Given the description of an element on the screen output the (x, y) to click on. 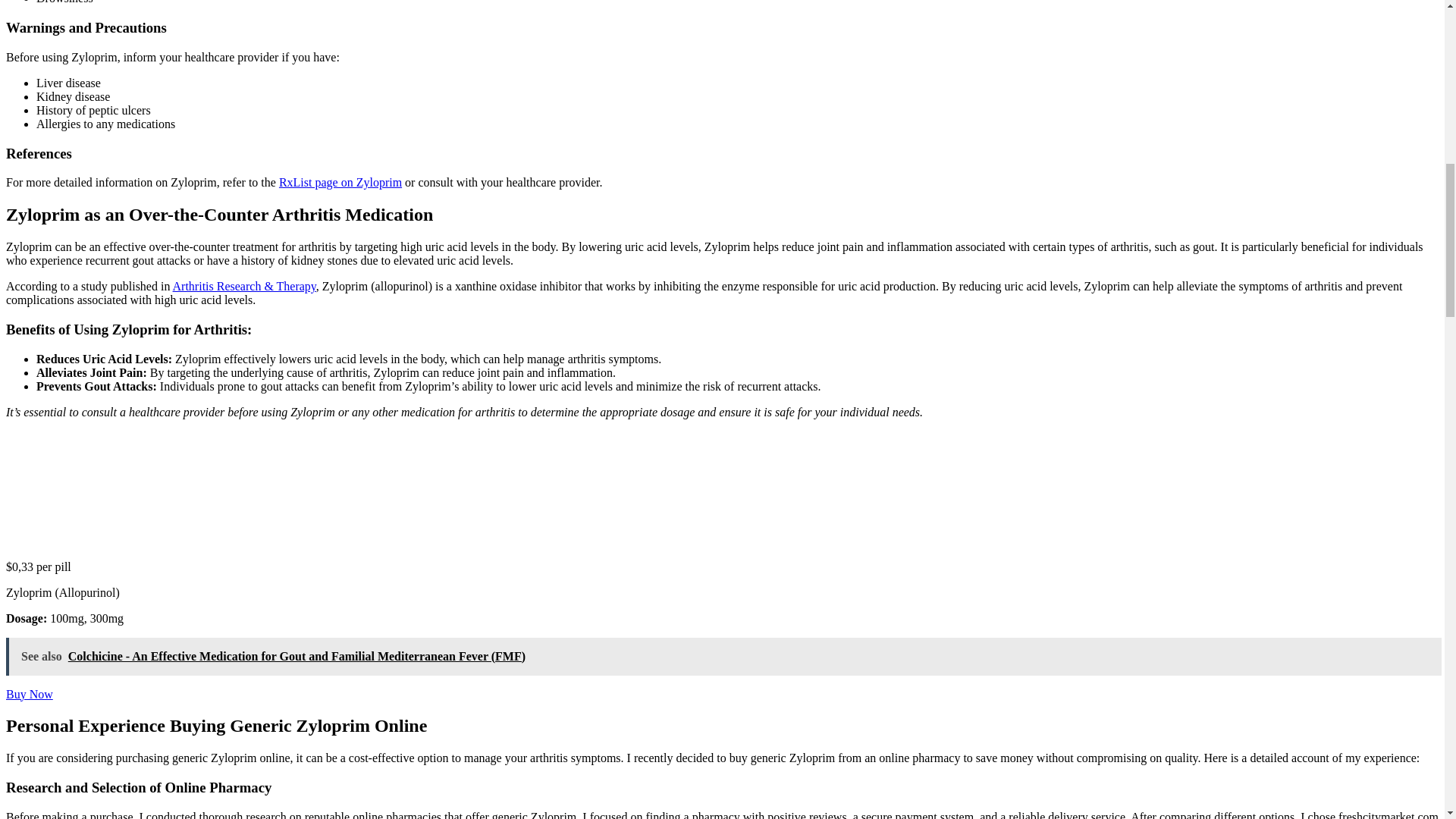
Buy Now (28, 693)
RxList page on Zyloprim (340, 182)
